Given the description of an element on the screen output the (x, y) to click on. 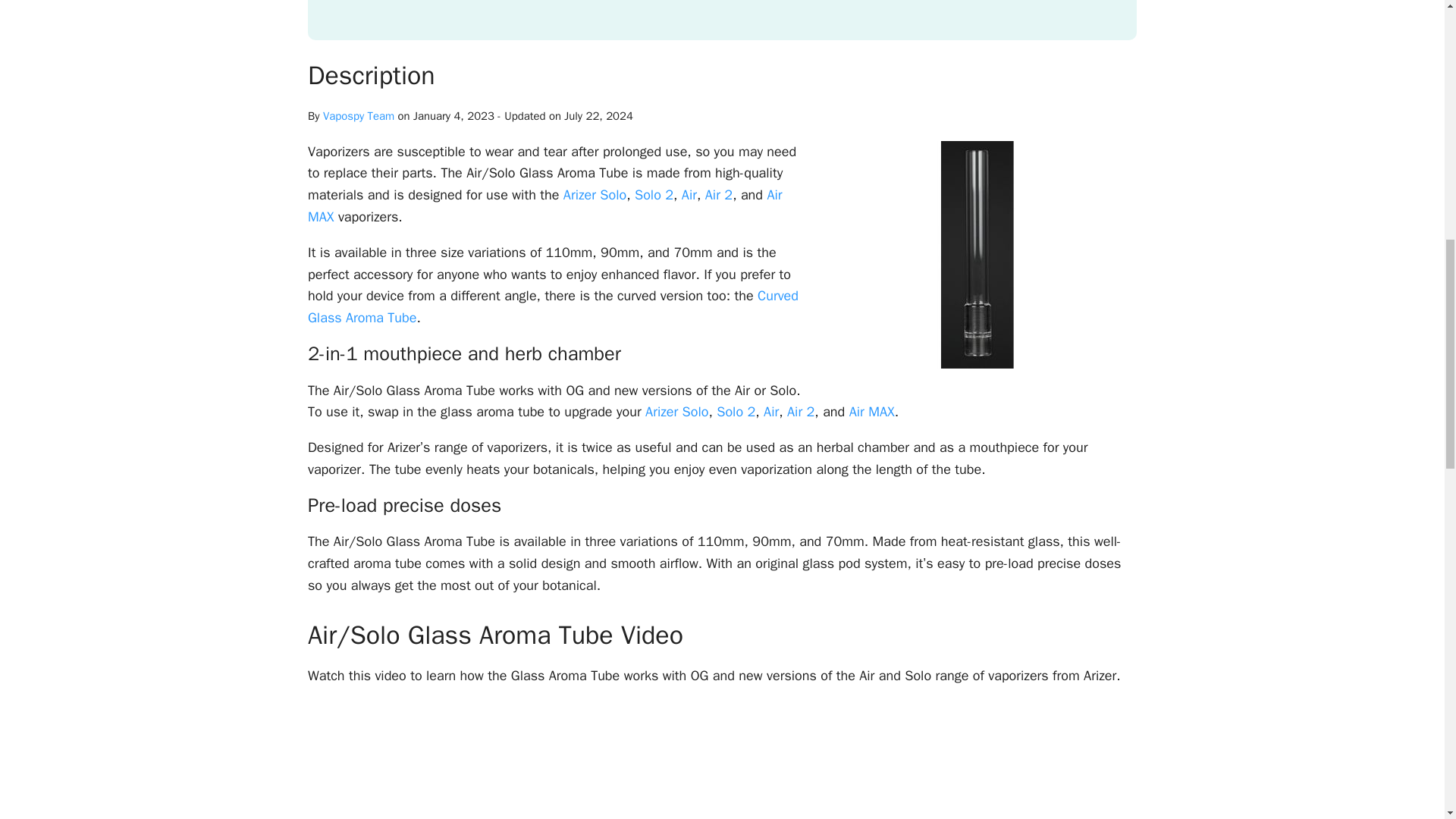
Curved Glass Aroma Tube (552, 306)
Air 2 (800, 411)
Arizer Solo (594, 194)
Air 2 (718, 194)
Air (770, 411)
Air (689, 194)
Arizer Solo (676, 411)
Air MAX (545, 205)
Air MAX (871, 411)
Solo 2 (653, 194)
Vapospy Team (358, 115)
Solo 2 (735, 411)
